Given the description of an element on the screen output the (x, y) to click on. 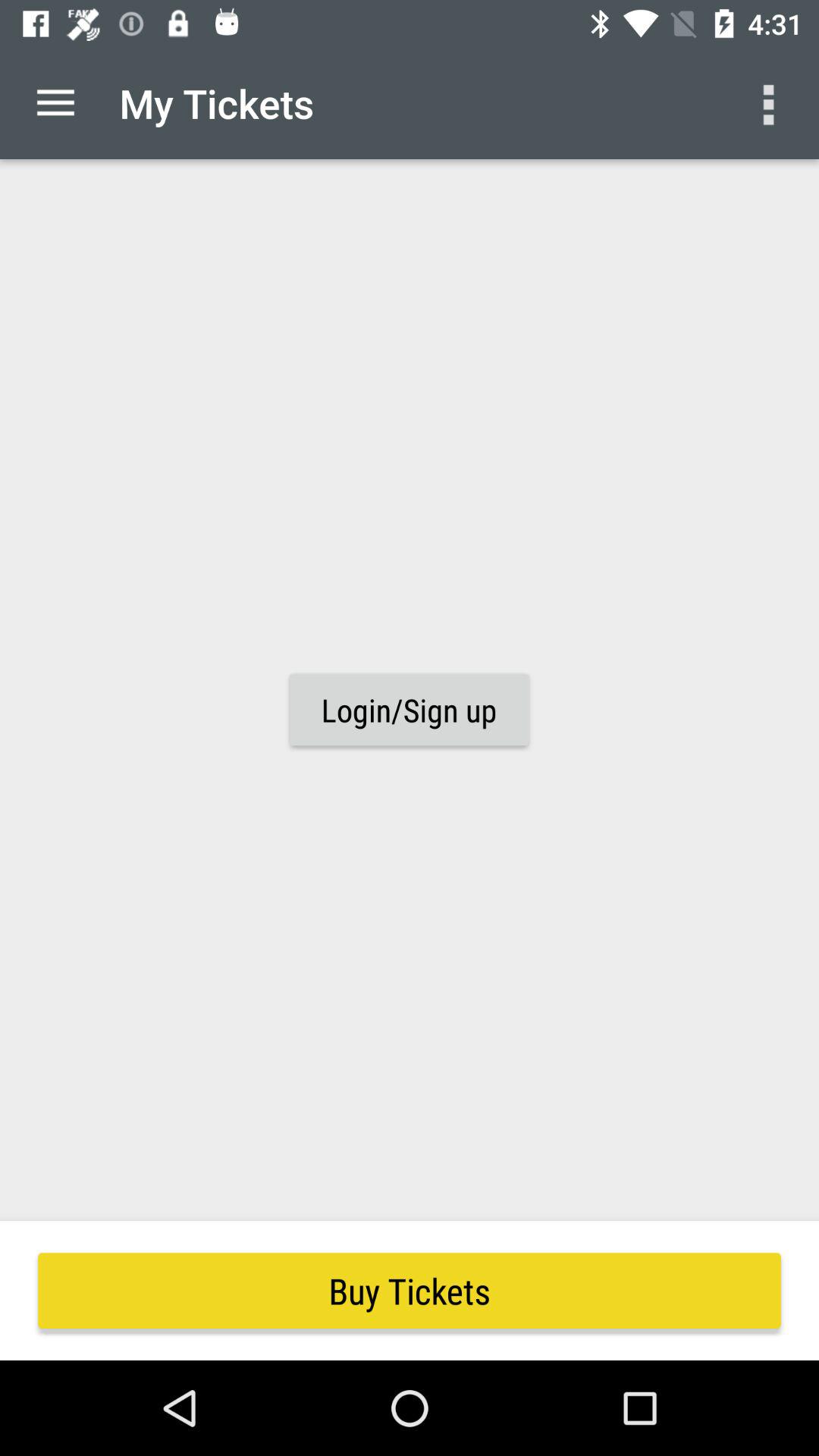
select the app to the right of the my tickets icon (771, 103)
